Given the description of an element on the screen output the (x, y) to click on. 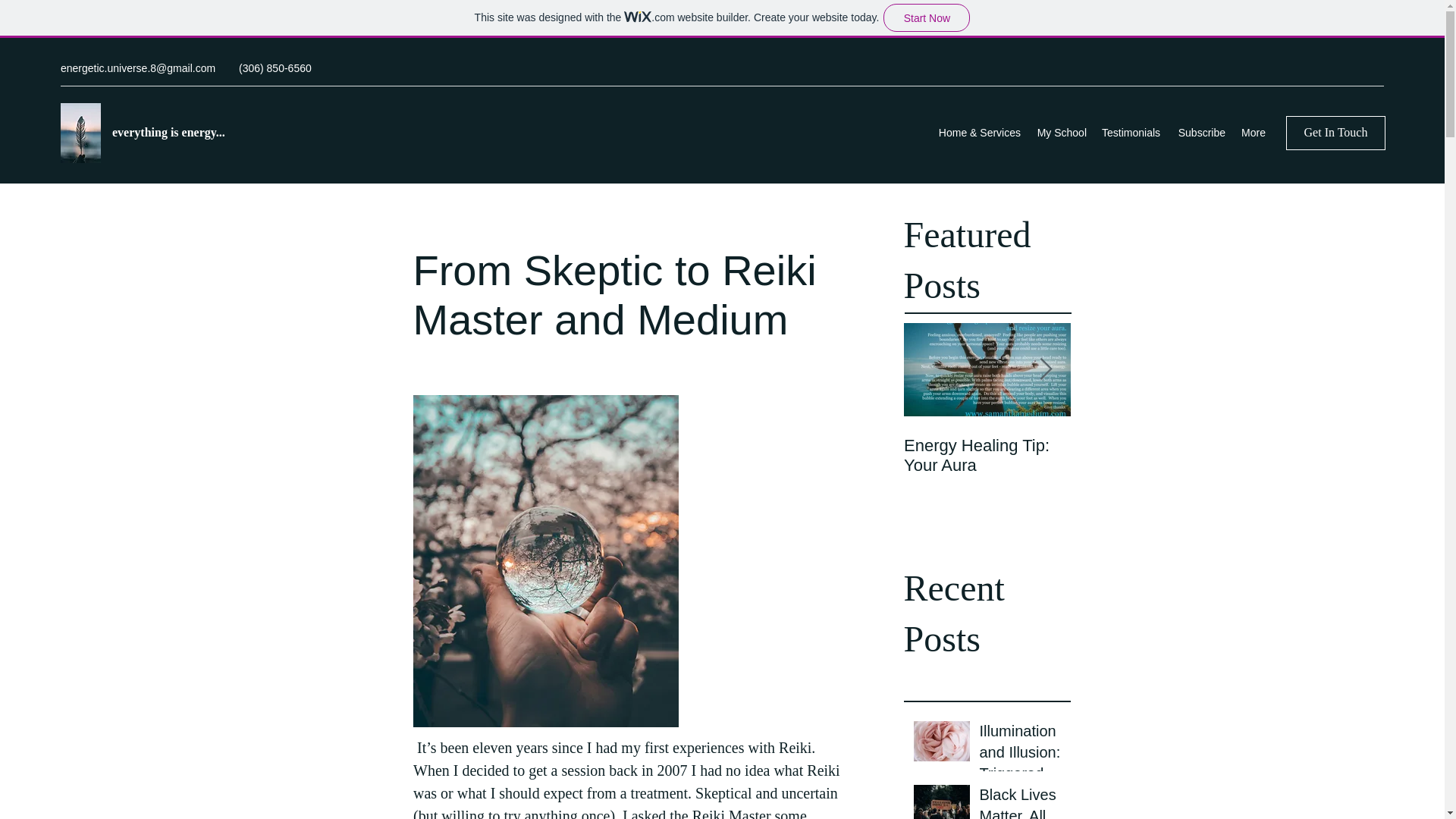
Illumination and Illusion: Triggered Awake (1020, 755)
Energy Healing Tip: Clear Negativity (1153, 455)
My School (1060, 132)
Get In Touch (1335, 132)
Testimonials (1130, 132)
Energy Healing Tip: Your Aura (987, 455)
Subscribe (1200, 132)
Black Lives Matter. All Lives Matter. (1020, 801)
